Given the description of an element on the screen output the (x, y) to click on. 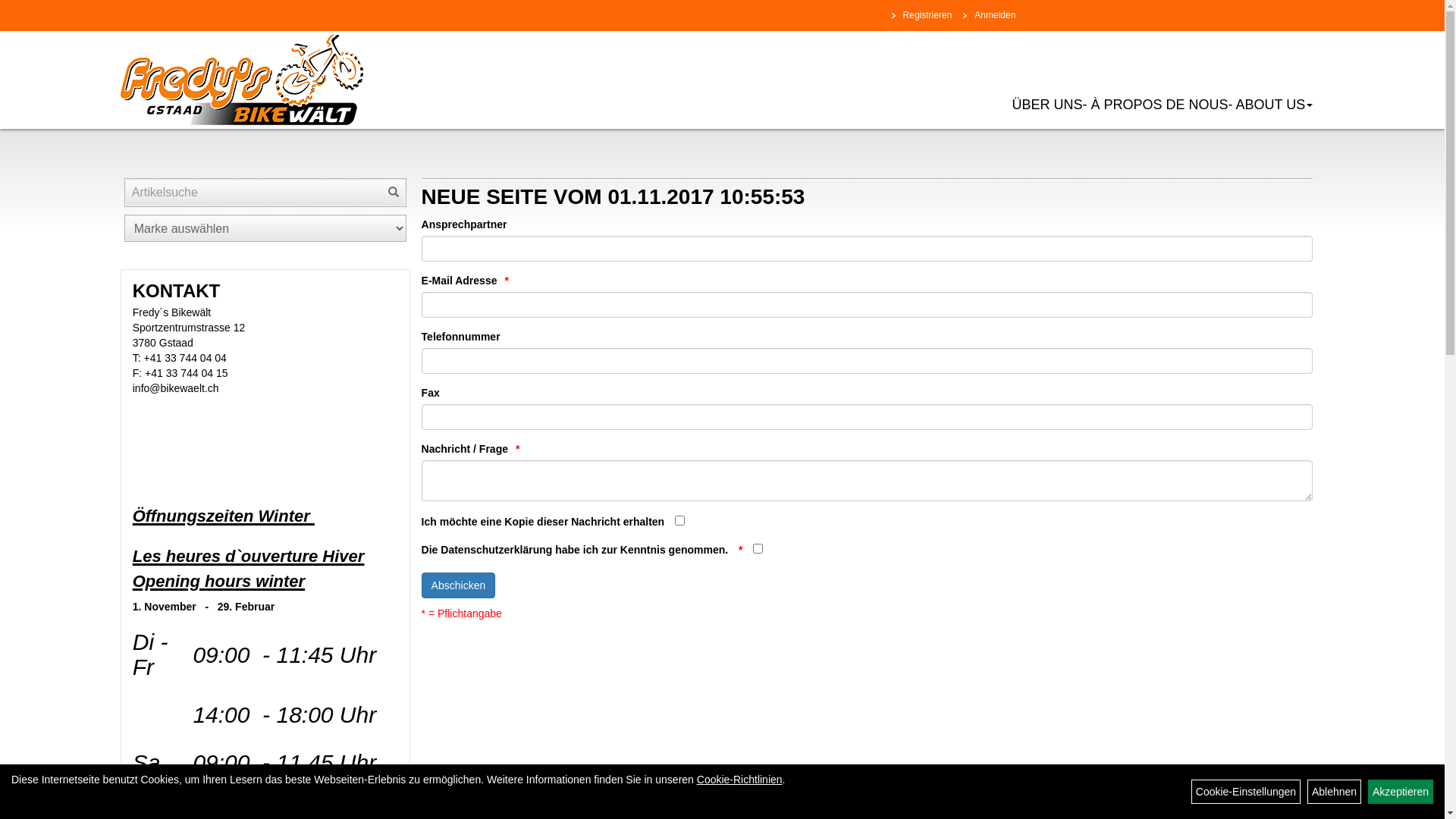
Cookie-Einstellungen Element type: text (1245, 791)
Abschicken Element type: text (458, 585)
Registrieren Element type: text (924, 15)
Ablehnen Element type: text (1334, 791)
Cookie-Richtlinien Element type: text (739, 779)
Anmelden Element type: text (990, 15)
Akzeptieren Element type: text (1400, 791)
